Given the description of an element on the screen output the (x, y) to click on. 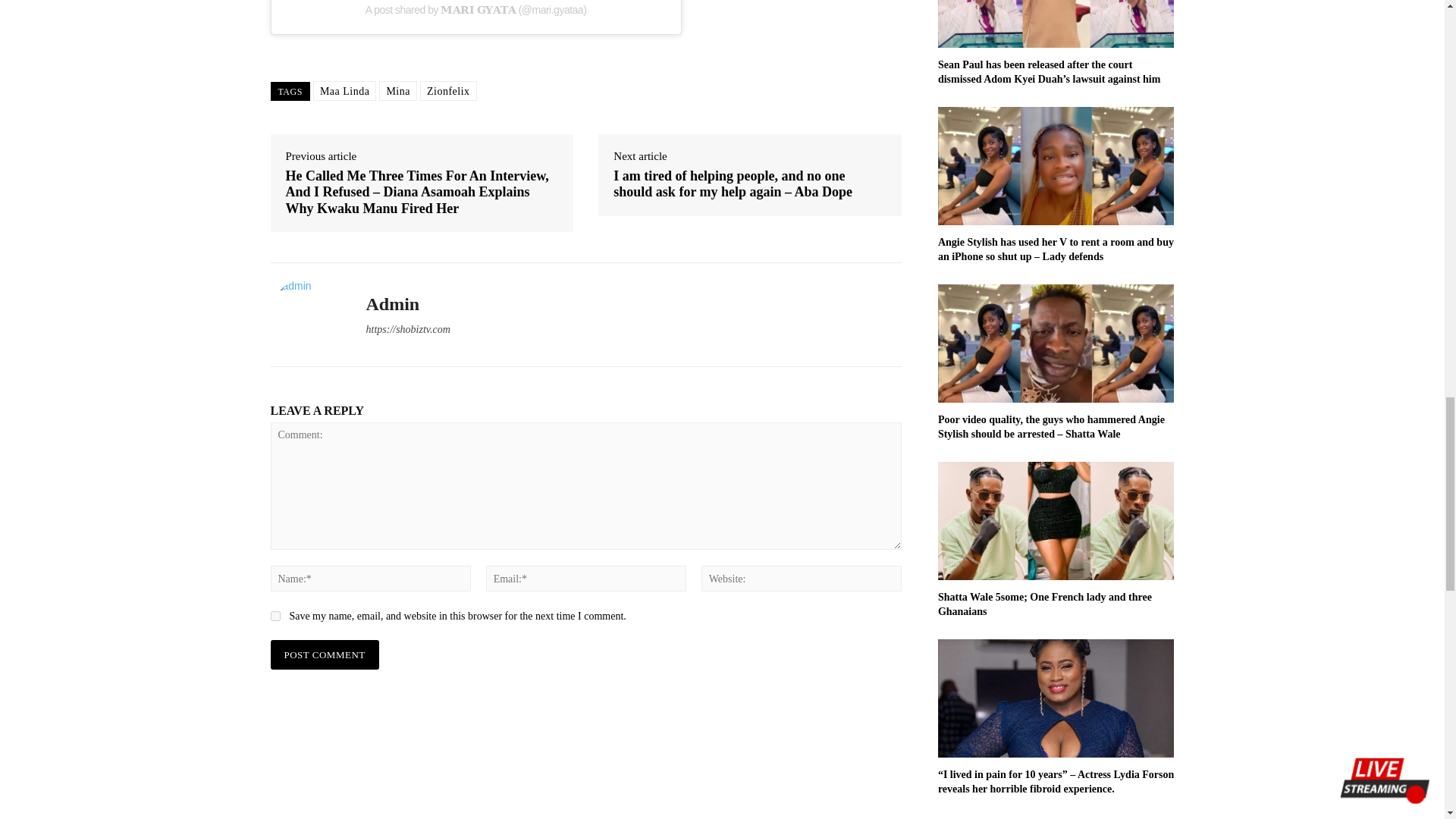
Post Comment (323, 654)
yes (274, 615)
Zionfelix (448, 90)
Maa Linda (345, 90)
Mina (397, 90)
